Given the description of an element on the screen output the (x, y) to click on. 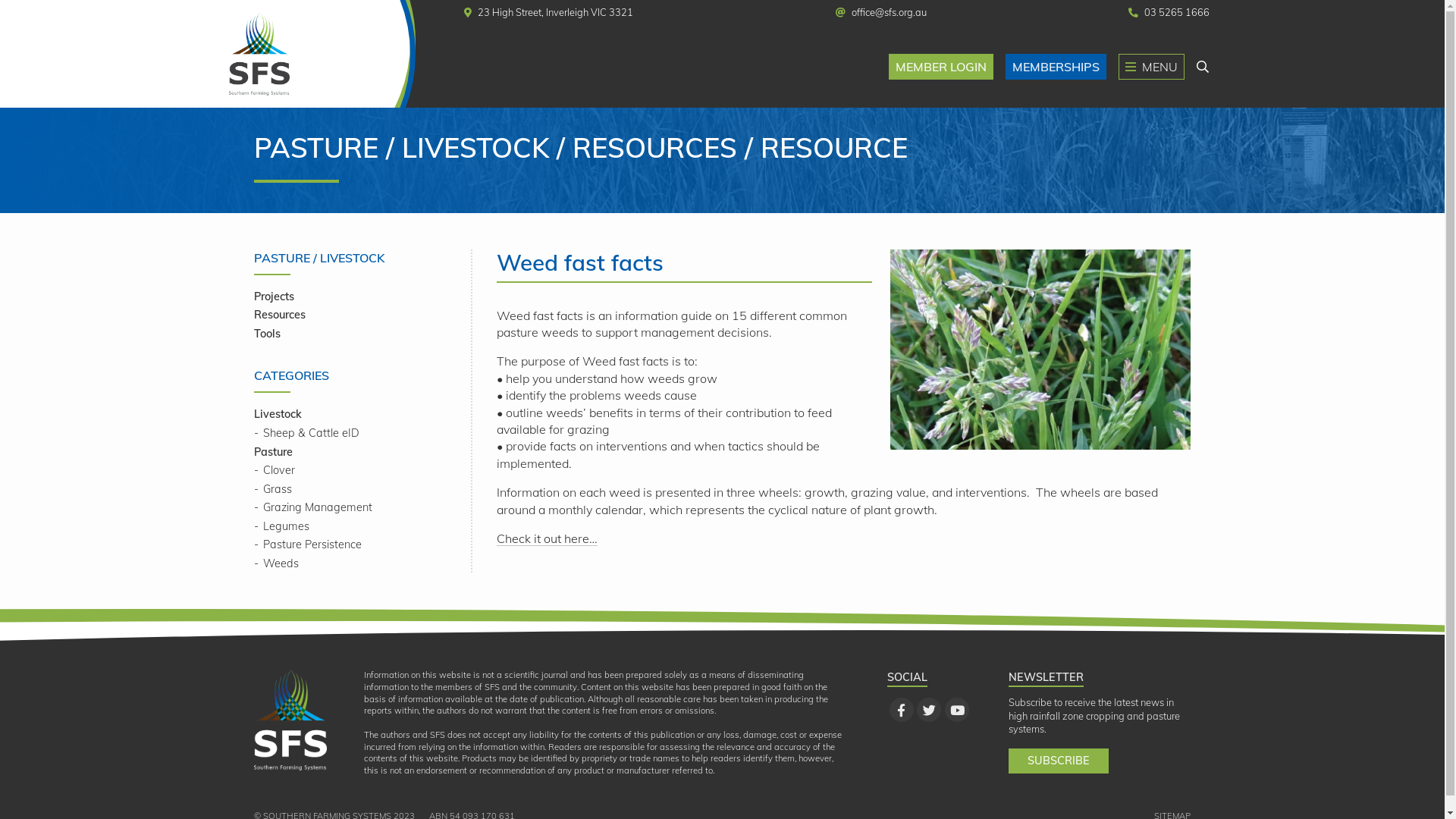
SUBSCRIBE Element type: text (1058, 760)
03 5265 1666 Element type: text (1168, 12)
office@sfs.org.au Element type: text (880, 12)
Grazing Management Element type: text (313, 507)
Sheep & Cattle eID Element type: text (306, 432)
Projects Element type: text (274, 296)
Clover Element type: text (274, 469)
Grass Element type: text (272, 488)
Login Element type: text (721, 457)
Southern Farming Systems Element type: text (290, 719)
Search Element type: text (1203, 66)
MEMBER LOGIN Element type: text (940, 66)
Pasture Element type: text (273, 451)
Livestock Element type: text (277, 413)
PASTURE / LIVESTOCK Element type: text (413, 147)
RESOURCES Element type: text (666, 147)
Southern Farming Systems Element type: text (312, 53)
Pasture Persistence Element type: text (307, 544)
Tools Element type: text (267, 333)
MENU Element type: text (1151, 66)
Weeds Element type: text (276, 563)
Resources Element type: text (279, 314)
Legumes Element type: text (281, 526)
MEMBERSHIPS Element type: text (1055, 66)
